Given the description of an element on the screen output the (x, y) to click on. 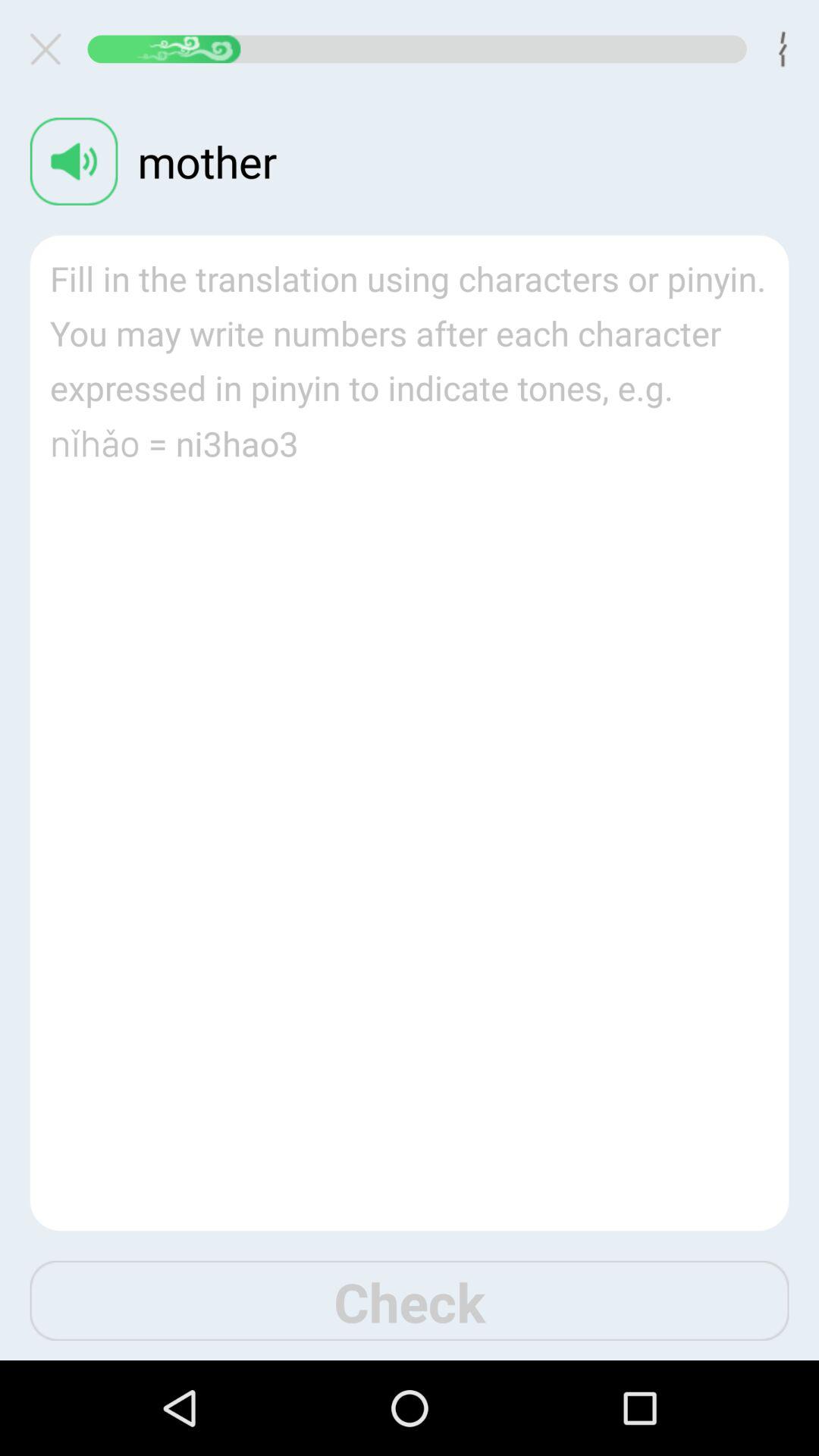
listen (73, 161)
